Given the description of an element on the screen output the (x, y) to click on. 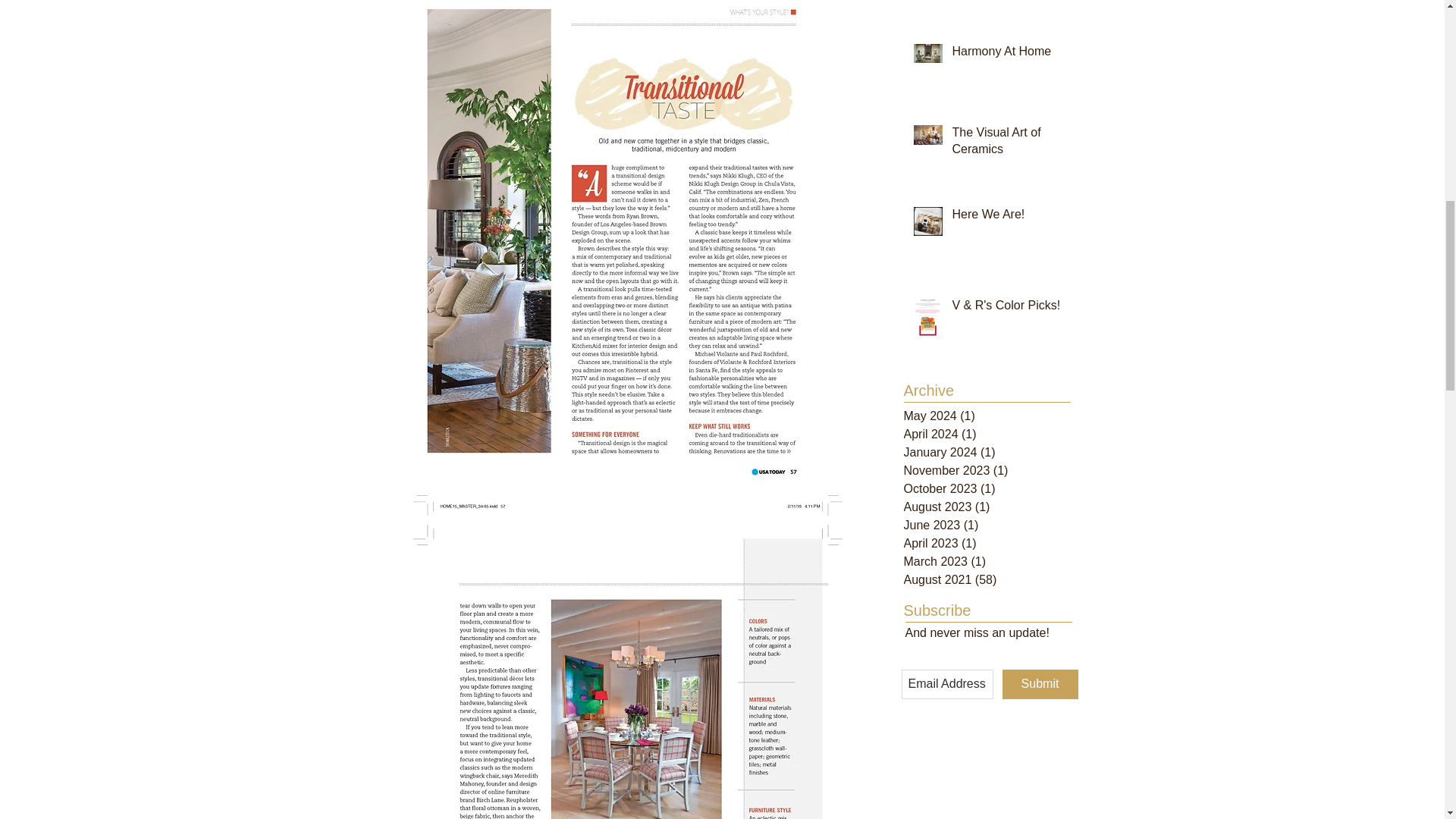
Here We Are! (1006, 217)
The Visual Art of Ceramics (1006, 144)
Harmony At Home (1006, 54)
